Given the description of an element on the screen output the (x, y) to click on. 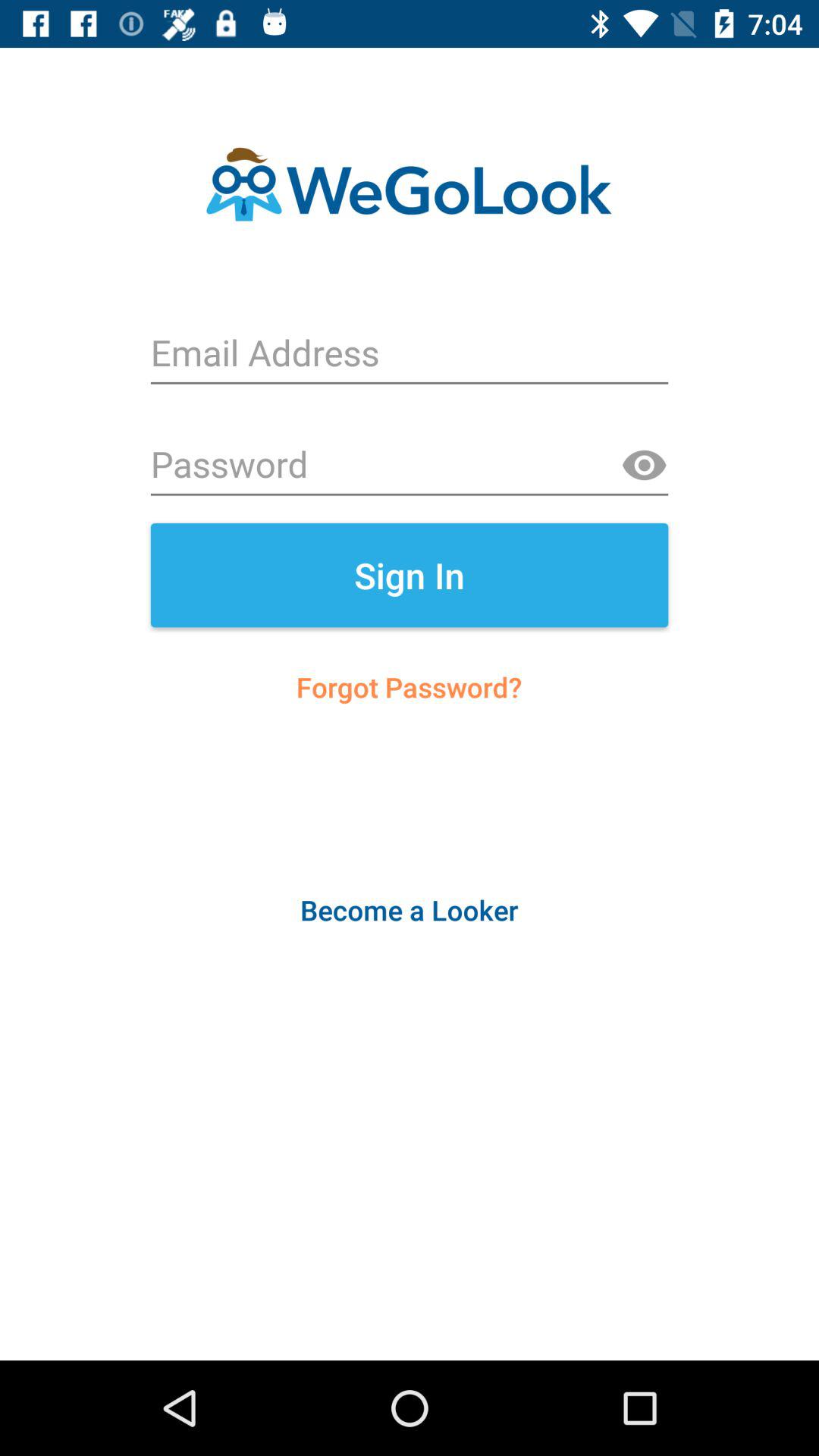
input your password (409, 466)
